Given the description of an element on the screen output the (x, y) to click on. 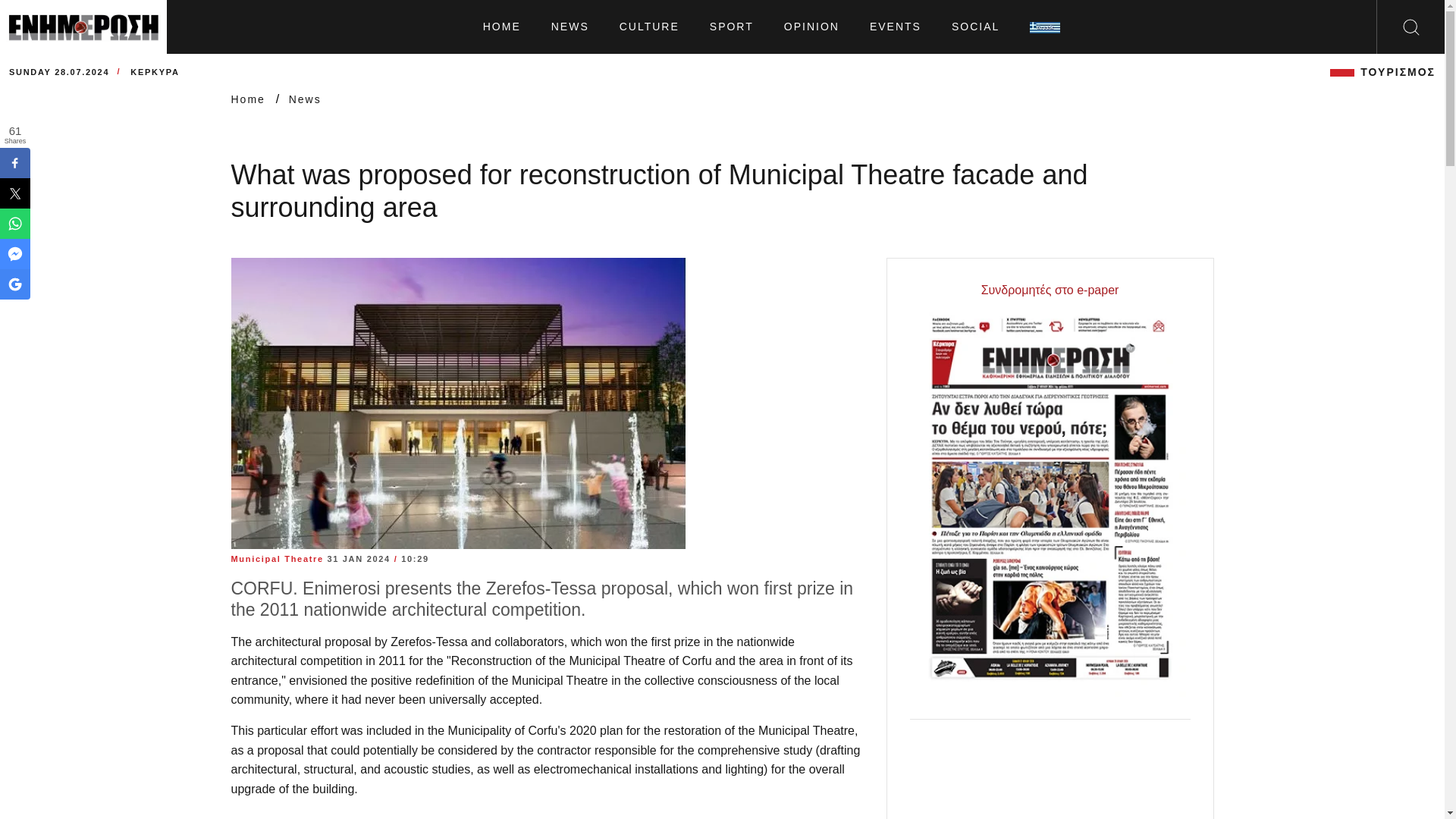
EVENTS (895, 27)
CULTURE (649, 27)
OPINION (812, 27)
Home (249, 99)
News (304, 99)
